Given the description of an element on the screen output the (x, y) to click on. 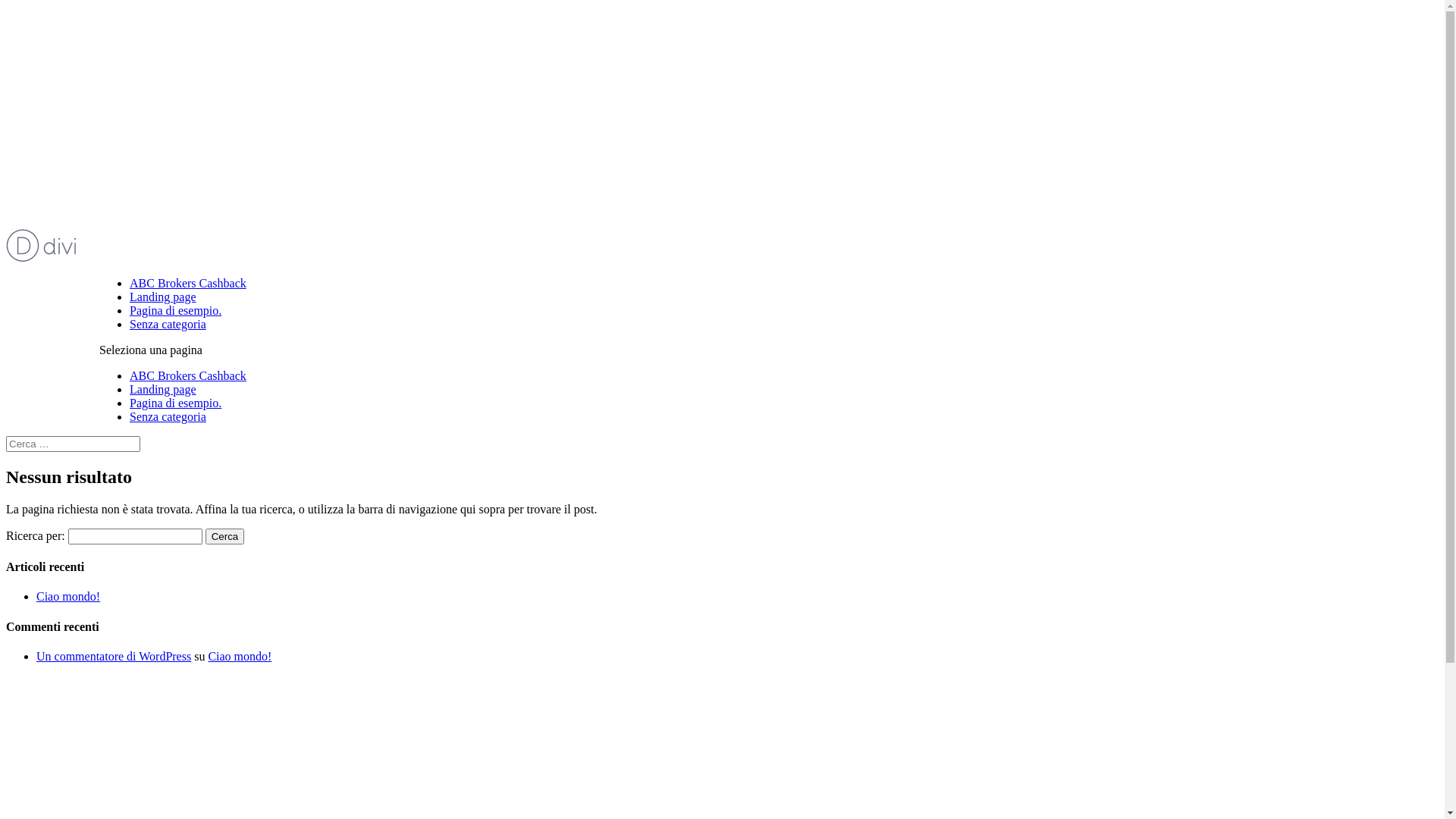
Cerca Element type: text (224, 536)
Ciao mondo! Element type: text (239, 655)
Cerca: Element type: hover (73, 443)
ABC Brokers Cashback Element type: text (187, 282)
Senza categoria Element type: text (167, 323)
Senza categoria Element type: text (167, 416)
Pagina di esempio. Element type: text (175, 310)
Pagina di esempio. Element type: text (175, 402)
Landing page Element type: text (162, 388)
ABC Brokers Cashback Element type: text (187, 375)
Ciao mondo! Element type: text (68, 595)
Senza categoria Element type: text (74, 774)
Un commentatore di WordPress Element type: text (113, 655)
Gennaio 2020 Element type: text (70, 715)
Landing page Element type: text (162, 296)
